Given the description of an element on the screen output the (x, y) to click on. 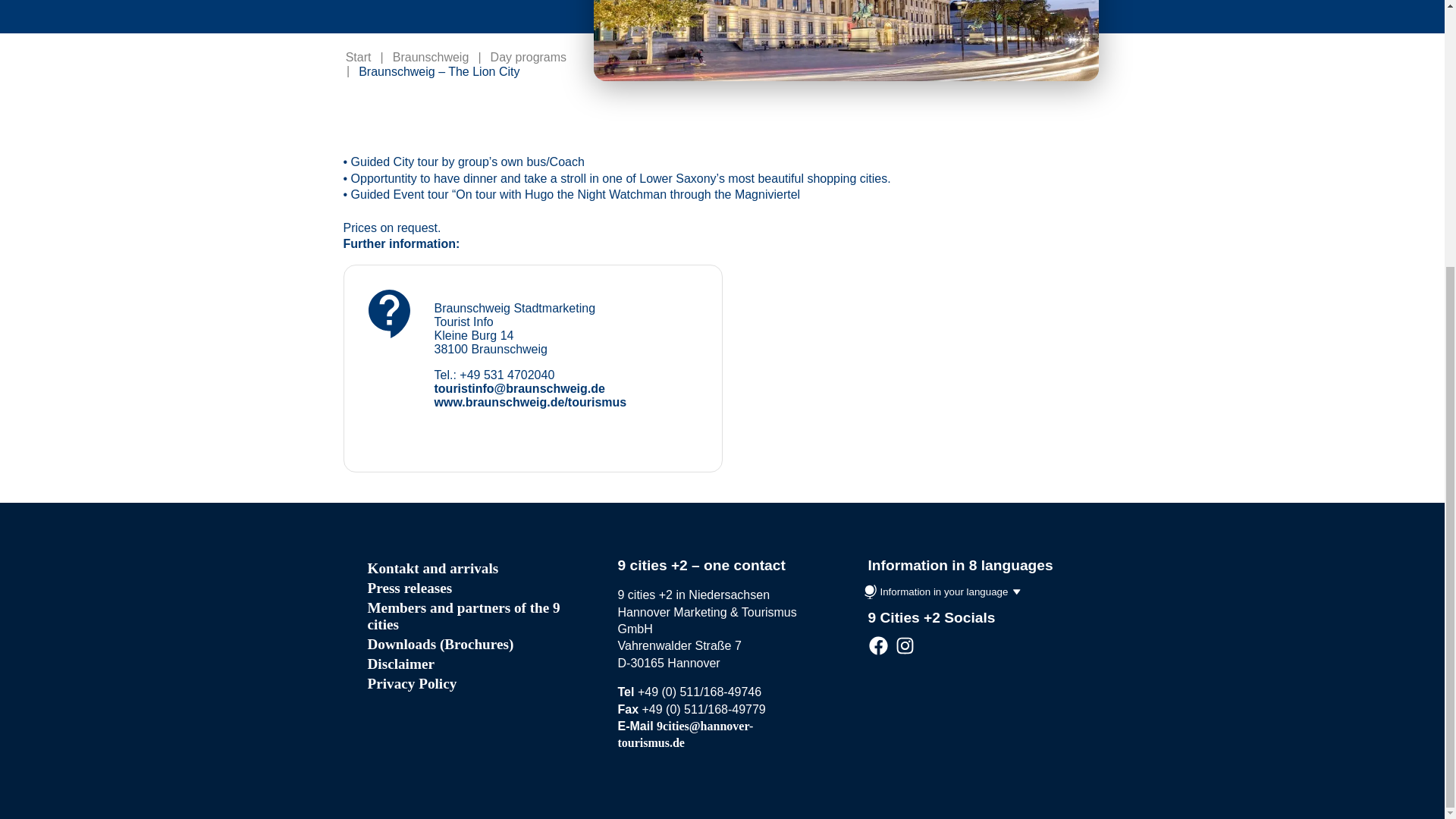
E-Mail (684, 734)
